Given the description of an element on the screen output the (x, y) to click on. 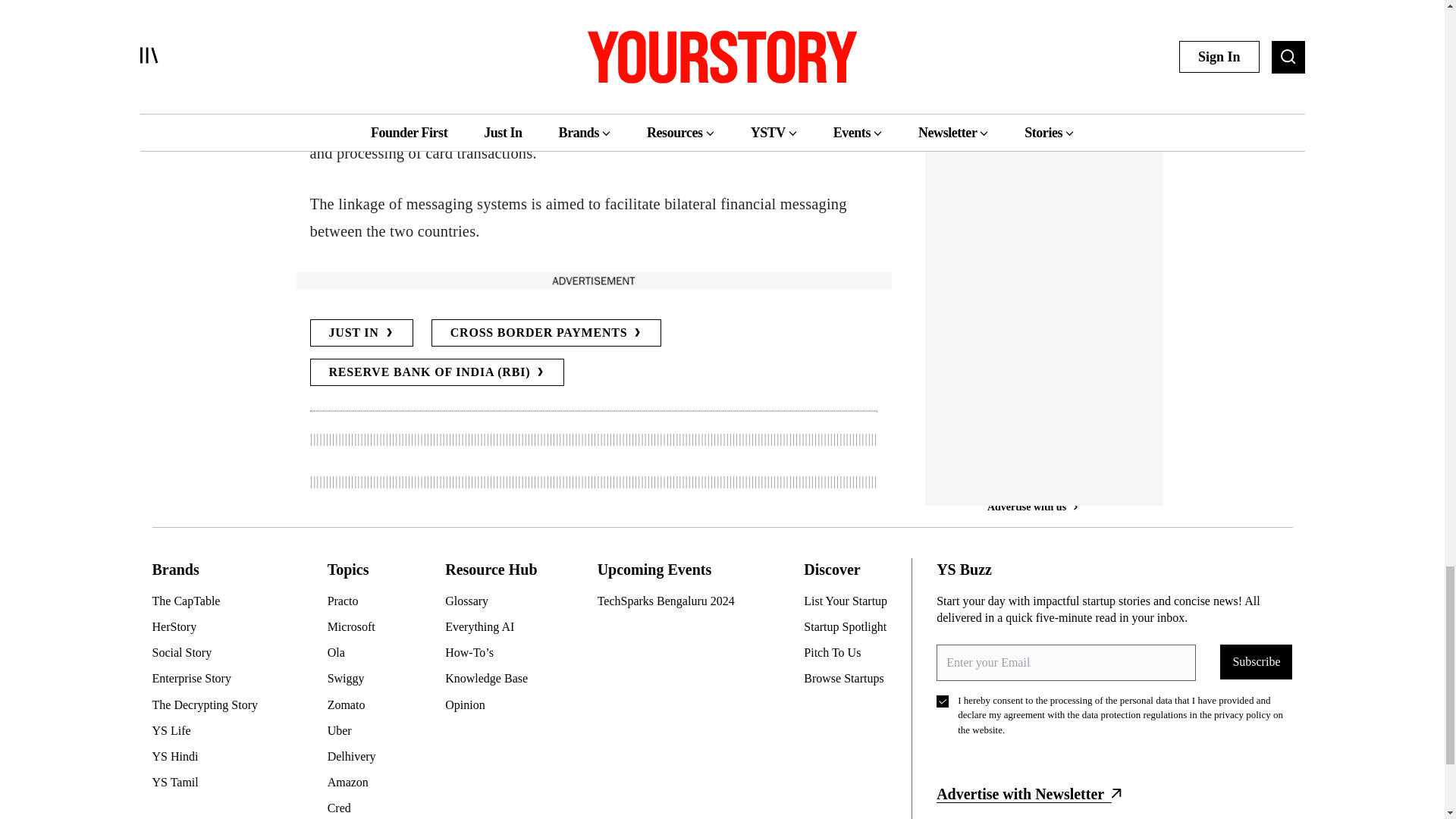
HerStory (210, 627)
The CapTable (210, 600)
CROSS BORDER PAYMENTS (546, 332)
Social Story (210, 652)
Advertise with us (1032, 3)
JUST IN (360, 332)
Advertise with us (592, 280)
